Given the description of an element on the screen output the (x, y) to click on. 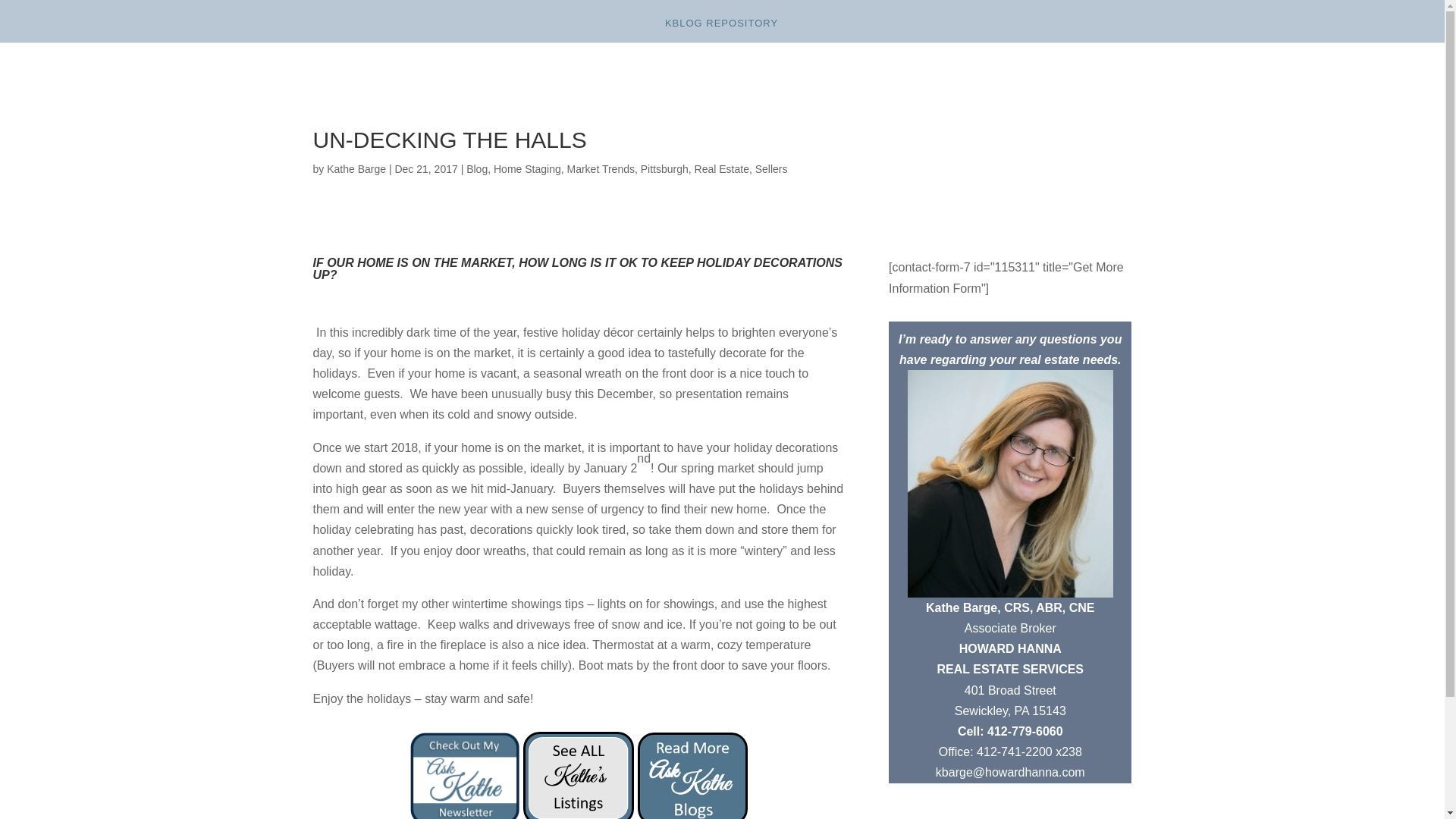
Market Trends (599, 168)
Sellers (771, 168)
Real Estate (721, 168)
KBLOG REPOSITORY (721, 30)
Pittsburgh (664, 168)
Home Staging (526, 168)
Posts by Kathe Barge (355, 168)
Blog (476, 168)
Kathe Barge (355, 168)
